Given the description of an element on the screen output the (x, y) to click on. 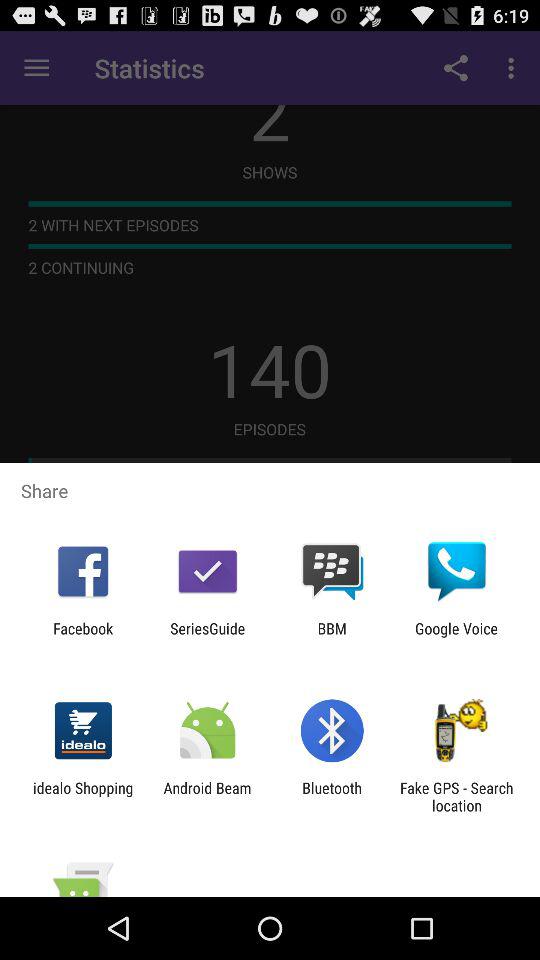
select the bbm icon (331, 637)
